Given the description of an element on the screen output the (x, y) to click on. 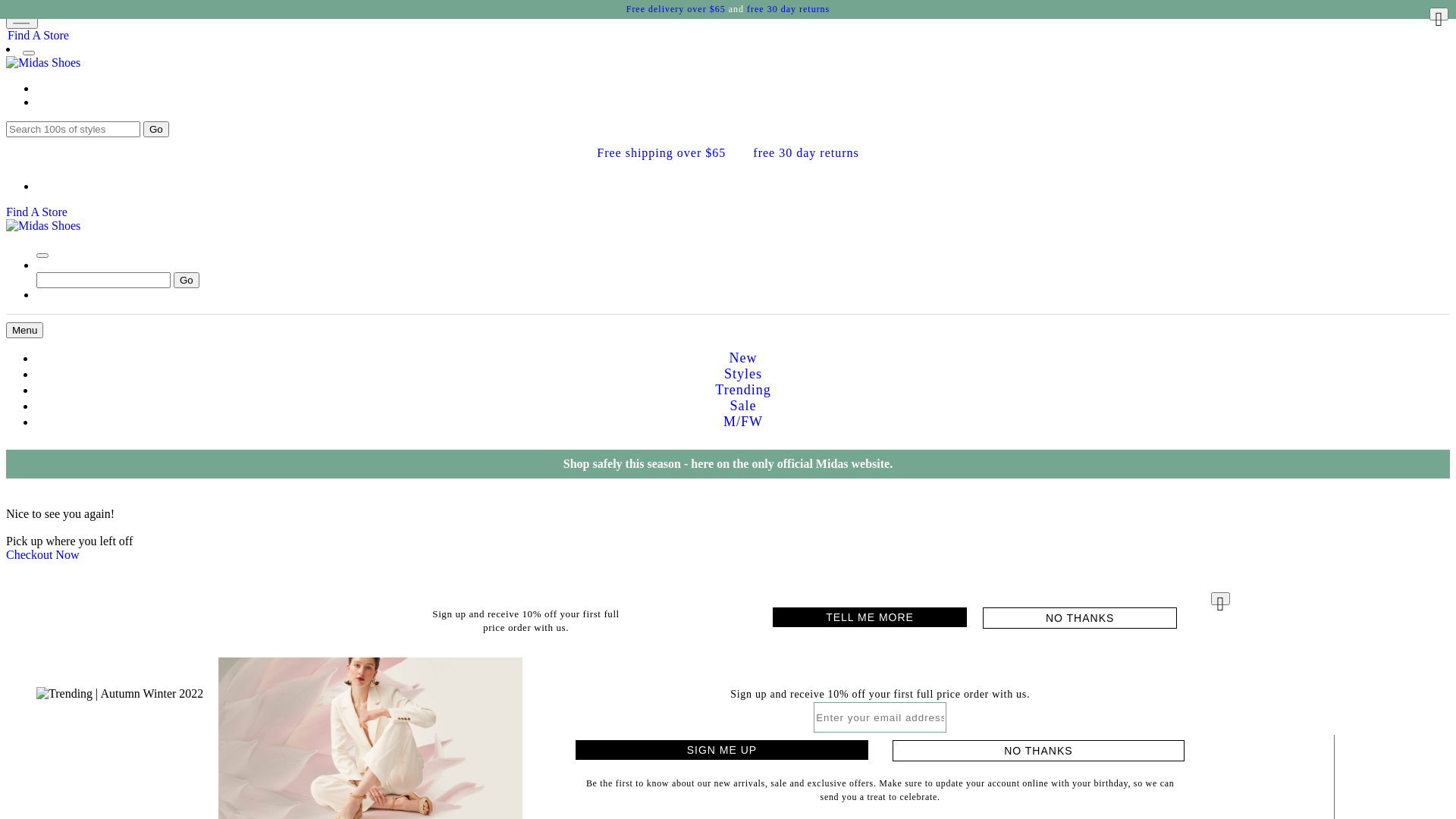
NO THANKS Element type: text (1038, 750)
Find A Store Element type: text (38, 34)
Find A Store Element type: text (36, 211)
NO THANKS Element type: text (1079, 617)
Styles Element type: text (743, 373)
TELL ME MORE Element type: text (869, 617)
Trending Element type: text (742, 389)
Free delivery over $65 Element type: text (675, 8)
New Element type: text (743, 357)
SIGN ME UP Element type: text (721, 749)
Midas Shoes Element type: hover (43, 225)
Sale Element type: text (742, 405)
free 30 day returns Element type: text (787, 8)
free 30 day returns Element type: text (805, 152)
Go Element type: text (186, 280)
Menu Element type: text (24, 330)
Free shipping over $65 Element type: text (660, 152)
Midas Shoes Element type: hover (43, 62)
Checkout Now Element type: text (42, 554)
M/FW Element type: text (743, 421)
Go Element type: text (156, 129)
